Given the description of an element on the screen output the (x, y) to click on. 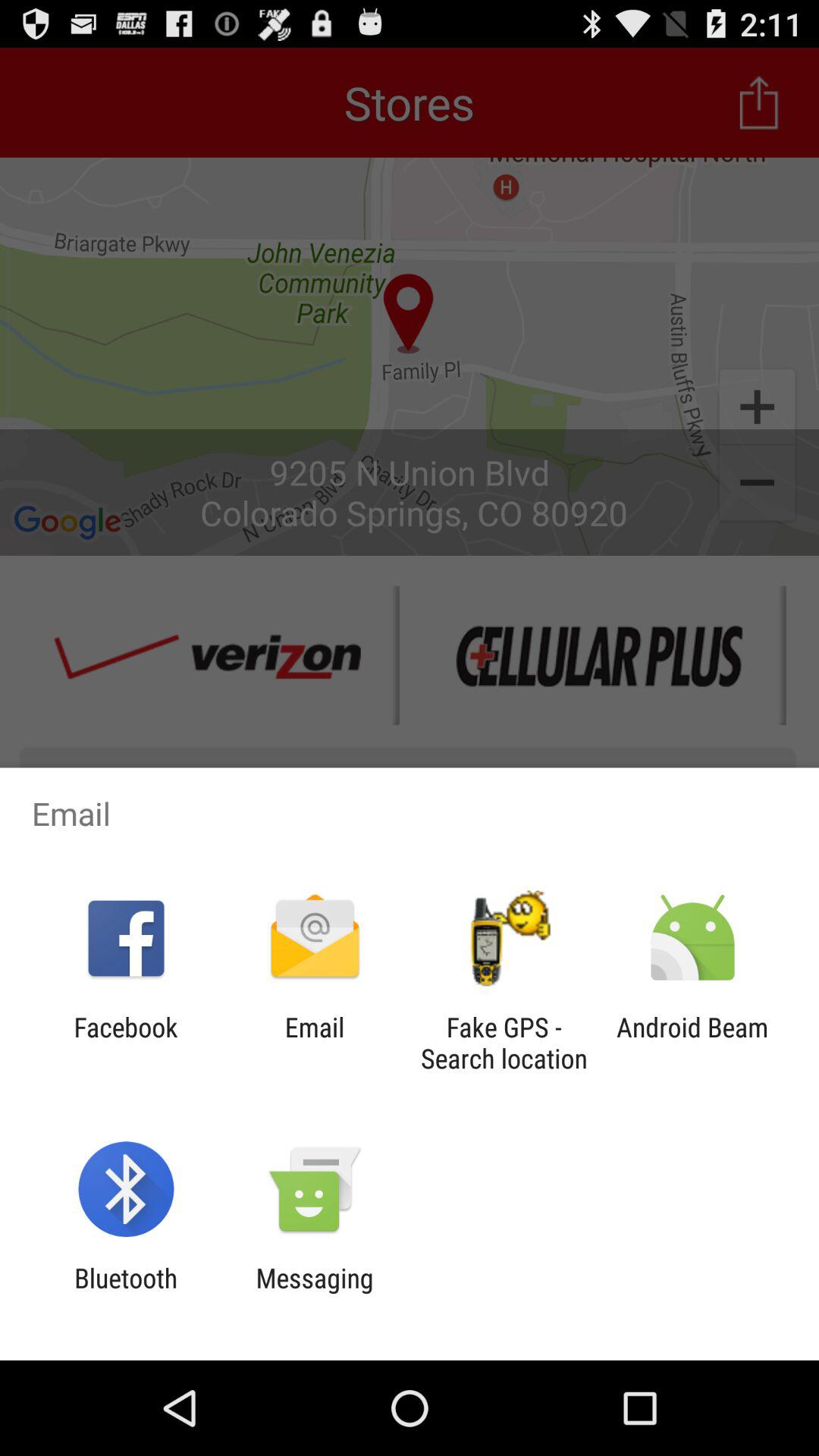
turn on item next to the email (503, 1042)
